Given the description of an element on the screen output the (x, y) to click on. 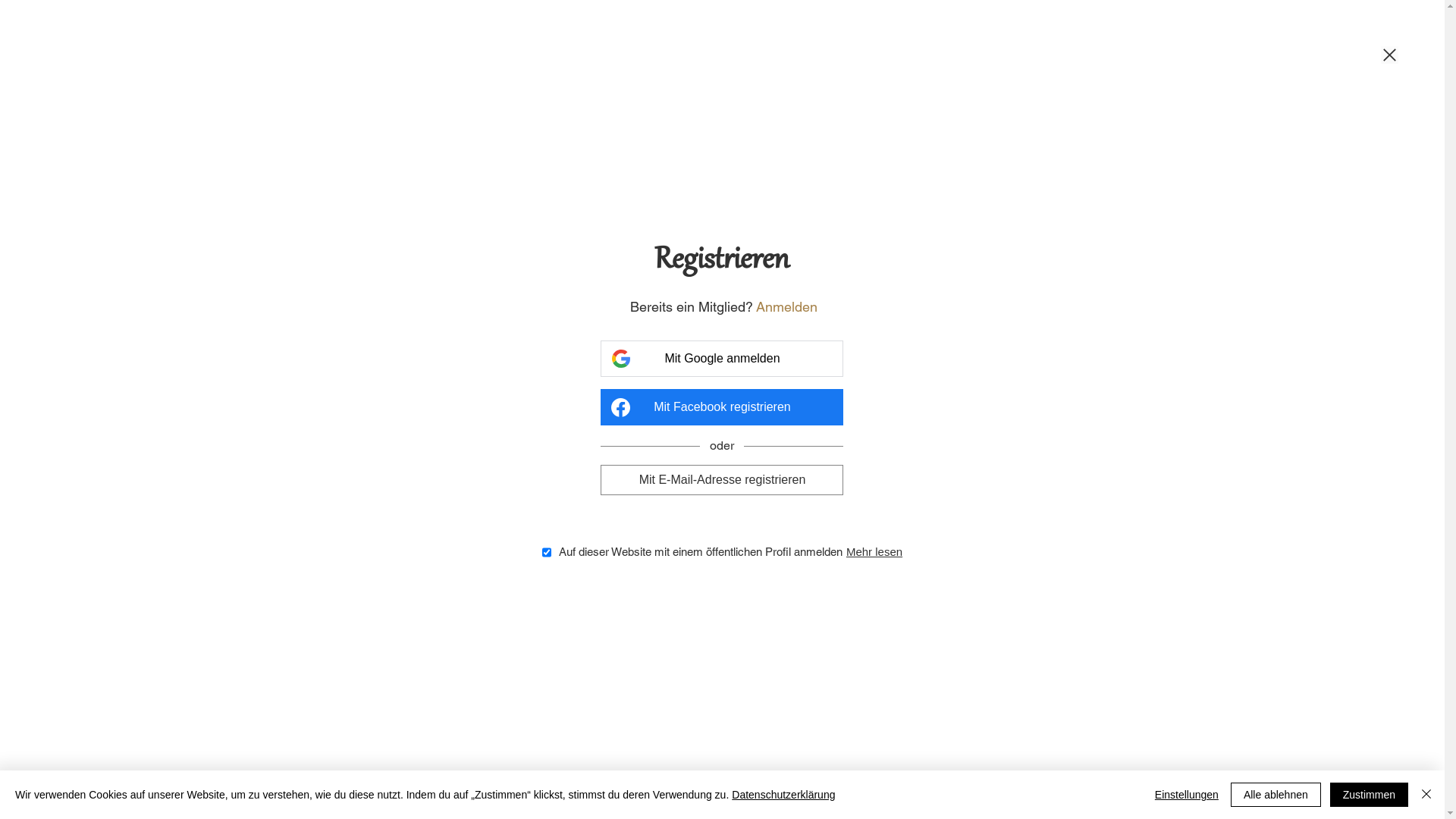
Mit Facebook registrieren Element type: text (721, 407)
Mehr lesen Element type: text (874, 551)
Alle ablehnen Element type: text (1275, 794)
Zustimmen Element type: text (1369, 794)
Anmelden Element type: text (786, 306)
Mit Google anmelden Element type: text (721, 358)
Mit E-Mail-Adresse registrieren Element type: text (721, 479)
